Given the description of an element on the screen output the (x, y) to click on. 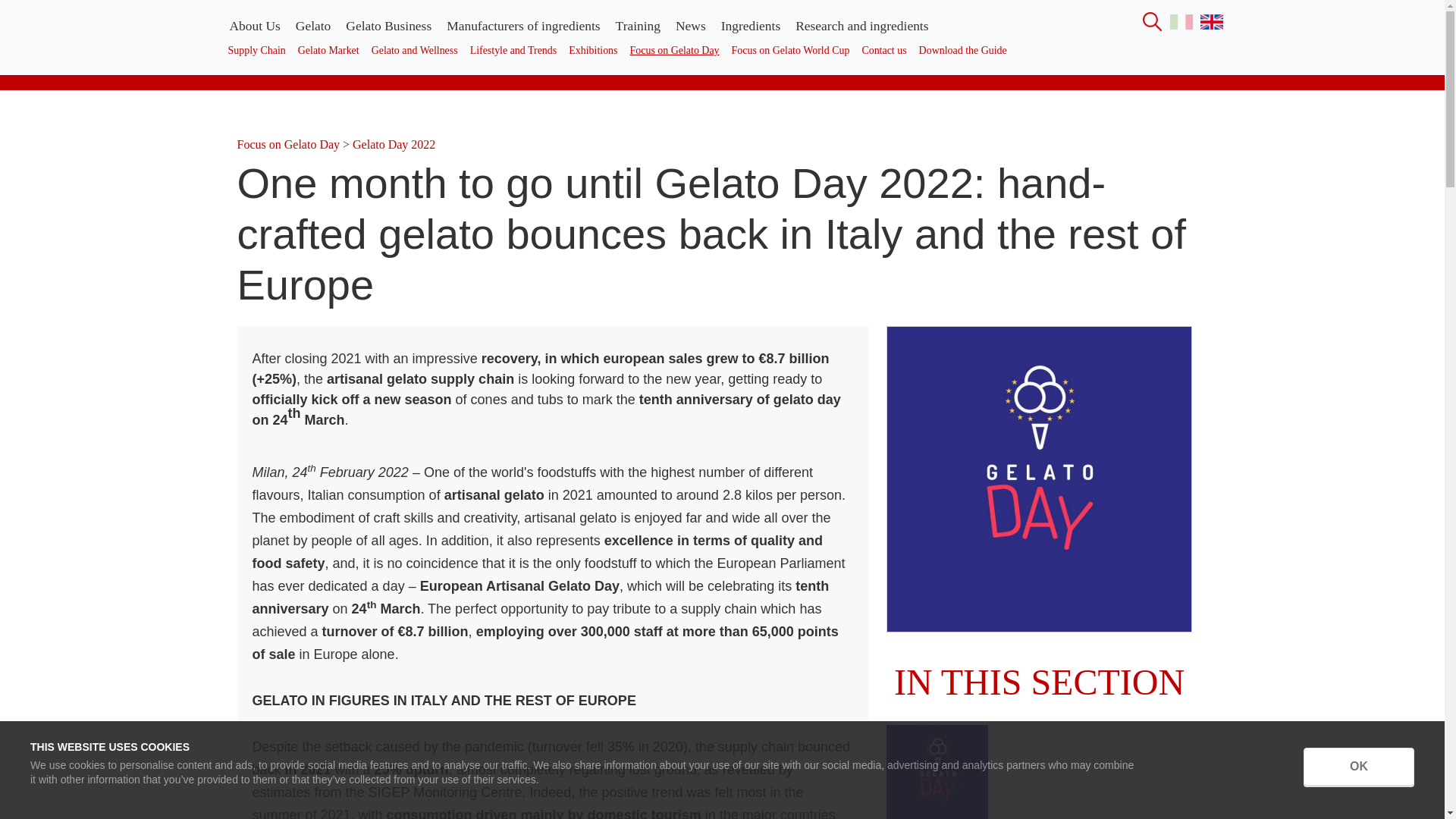
Ingredients (750, 25)
OK (1358, 766)
Training (638, 25)
Exhibitions (592, 51)
Research and ingredients (861, 25)
Gelato Day 2022 (393, 144)
Supply Chain (256, 51)
Gelato (312, 25)
Contact us (884, 51)
News (690, 25)
Focus on Gelato Day (287, 144)
Manufacturers of ingredients (523, 25)
Focus on Gelato World Cup (790, 51)
Download the Guide (962, 51)
Focus on Gelato Day (674, 51)
